Given the description of an element on the screen output the (x, y) to click on. 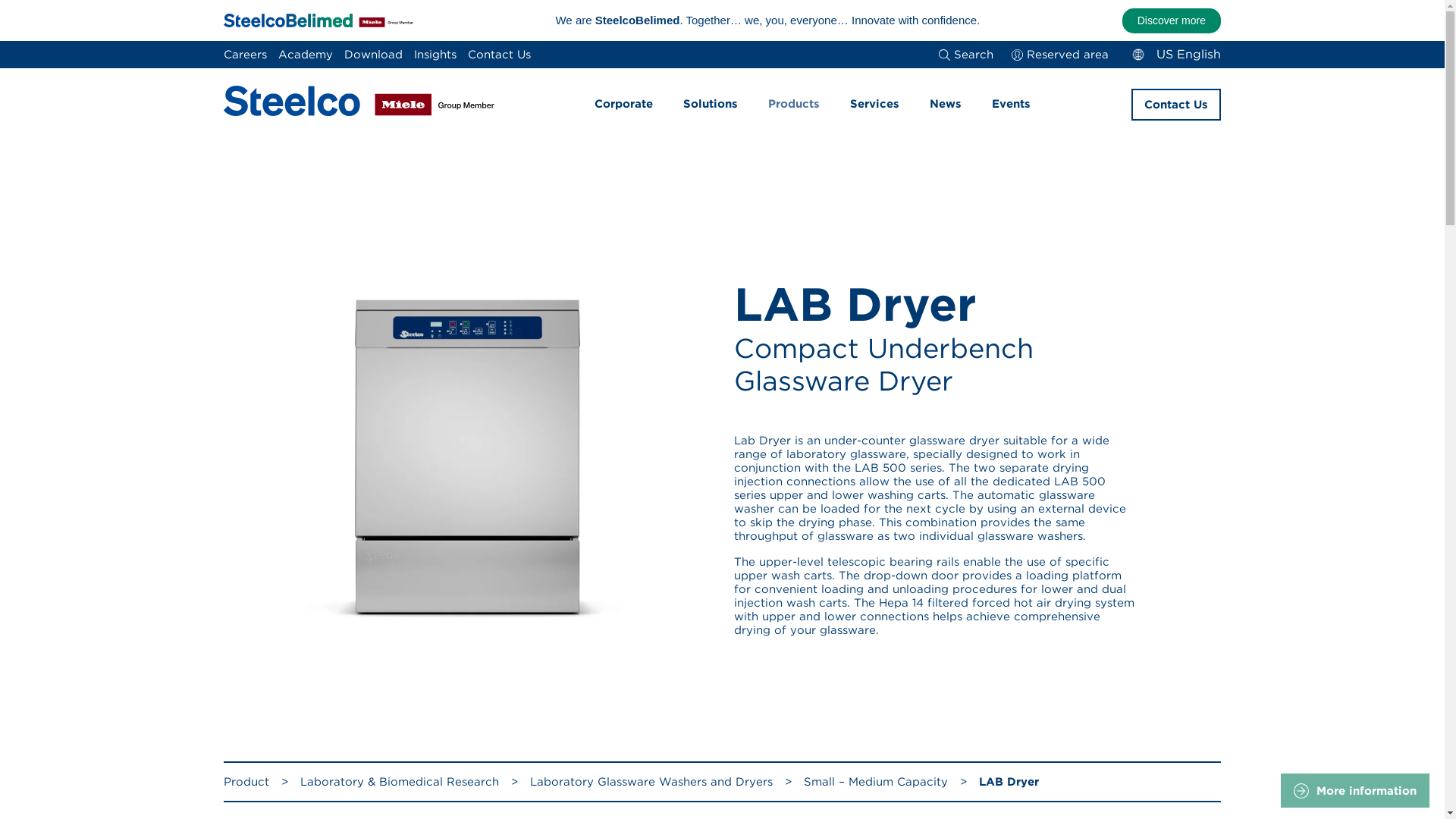
Download (373, 54)
Academy (305, 54)
Services (874, 103)
Academy (305, 54)
US English (1173, 53)
Careers (245, 54)
Contact Us (499, 54)
Insights (435, 54)
Careers (245, 54)
 Reserved area (1059, 54)
